Given the description of an element on the screen output the (x, y) to click on. 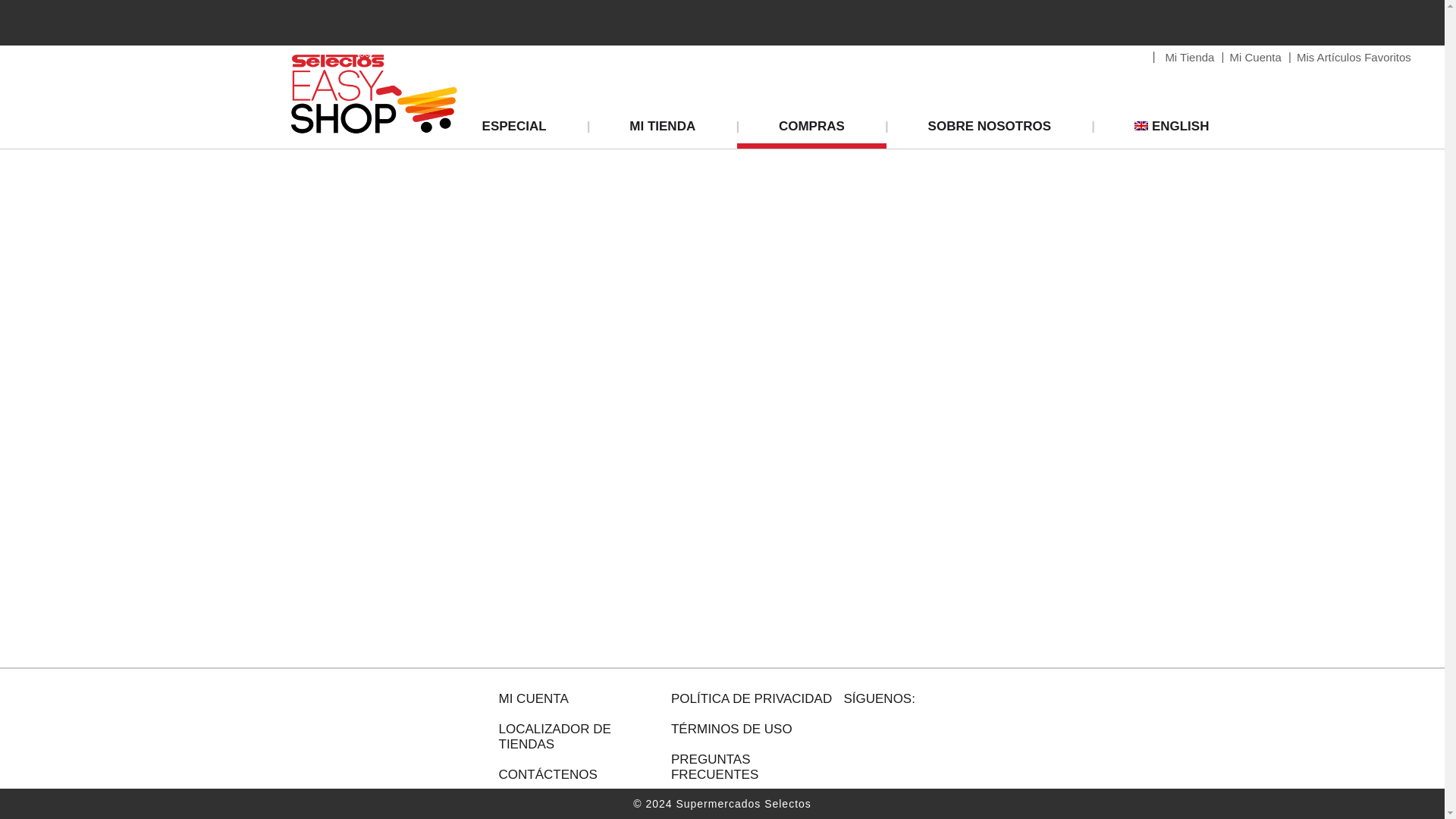
SOBRE NOSOTROS (989, 130)
Mi Tienda (1189, 56)
English (1157, 130)
COMPRAS (811, 130)
MI TIENDA (662, 130)
Mi Cuenta (1255, 56)
ESPECIAL (529, 130)
ENGLISH (1157, 130)
PREGUNTAS FRECUENTES (753, 767)
LOCALIZADOR DE TIENDAS (581, 736)
